Given the description of an element on the screen output the (x, y) to click on. 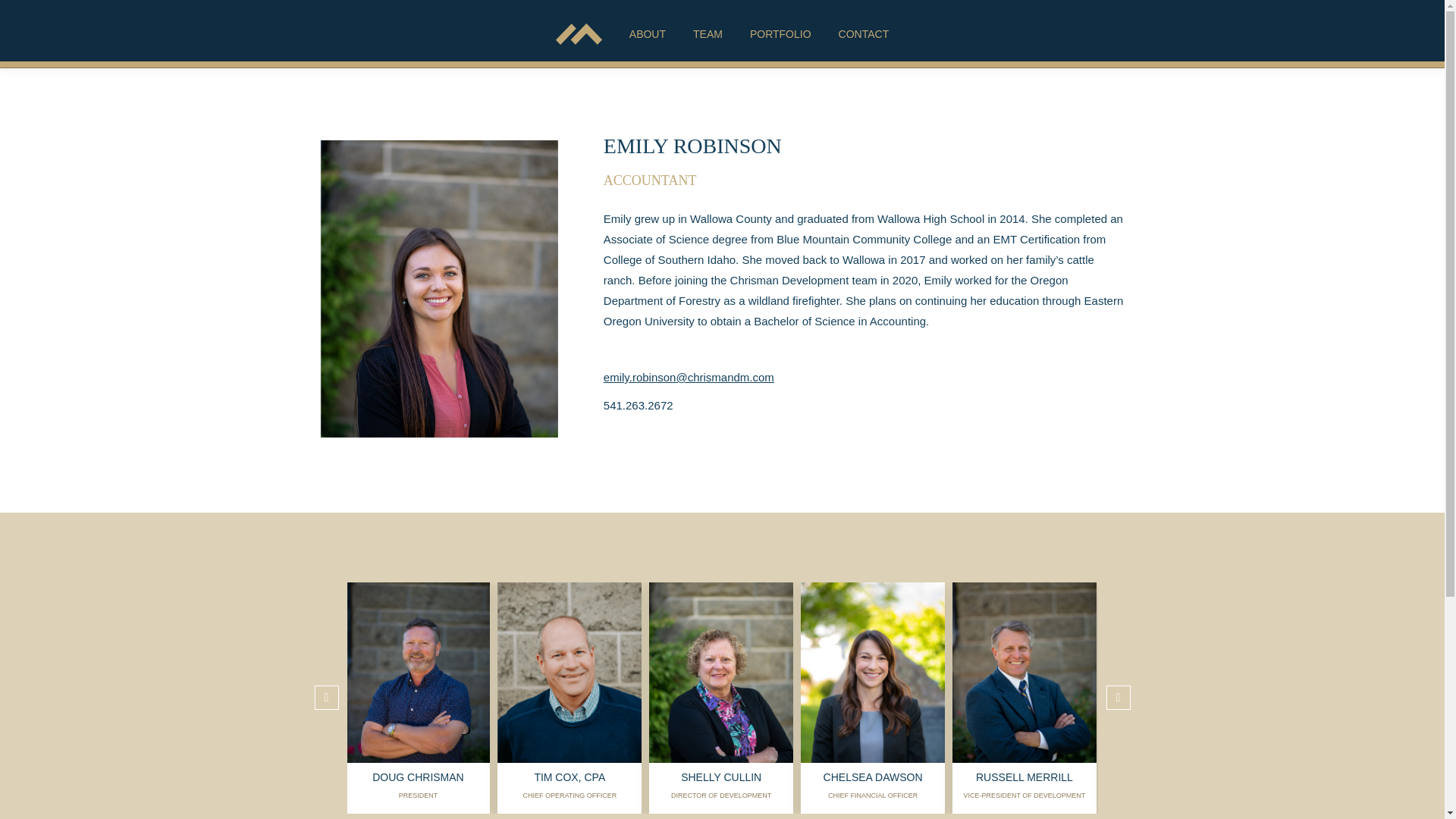
DOUG CHRISMAN (418, 776)
ABOUT (647, 33)
SHELLY CULLIN (721, 776)
CONTACT (863, 33)
PORTFOLIO (779, 33)
TIM COX, CPA (569, 776)
